Given the description of an element on the screen output the (x, y) to click on. 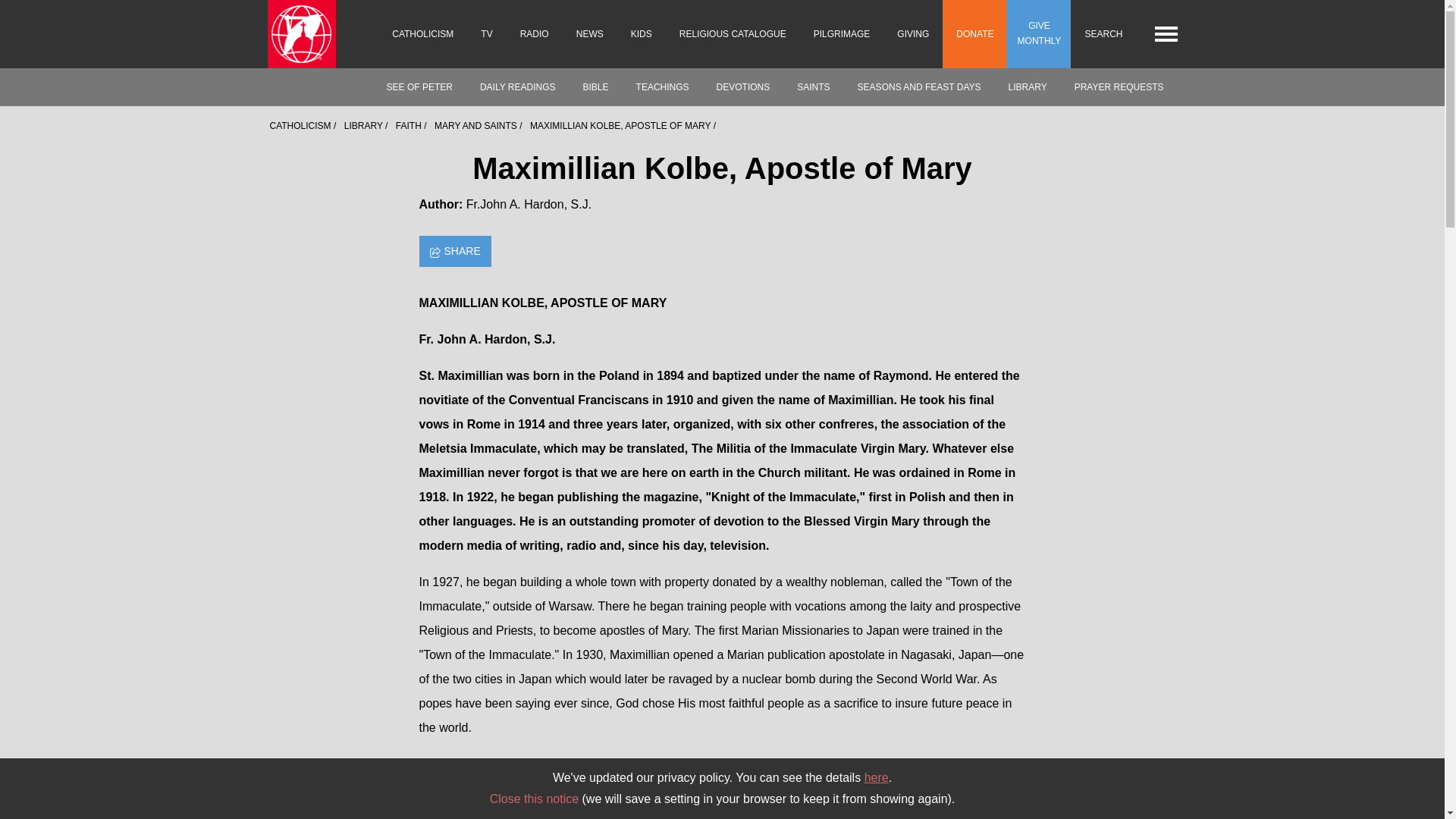
PILGRIMAGE (841, 33)
RELIGIOUS CATALOGUE (732, 33)
SEARCH (1102, 33)
DONATE (974, 33)
GIVE MONTHLY (1038, 33)
CATHOLICISM (422, 33)
